Given the description of an element on the screen output the (x, y) to click on. 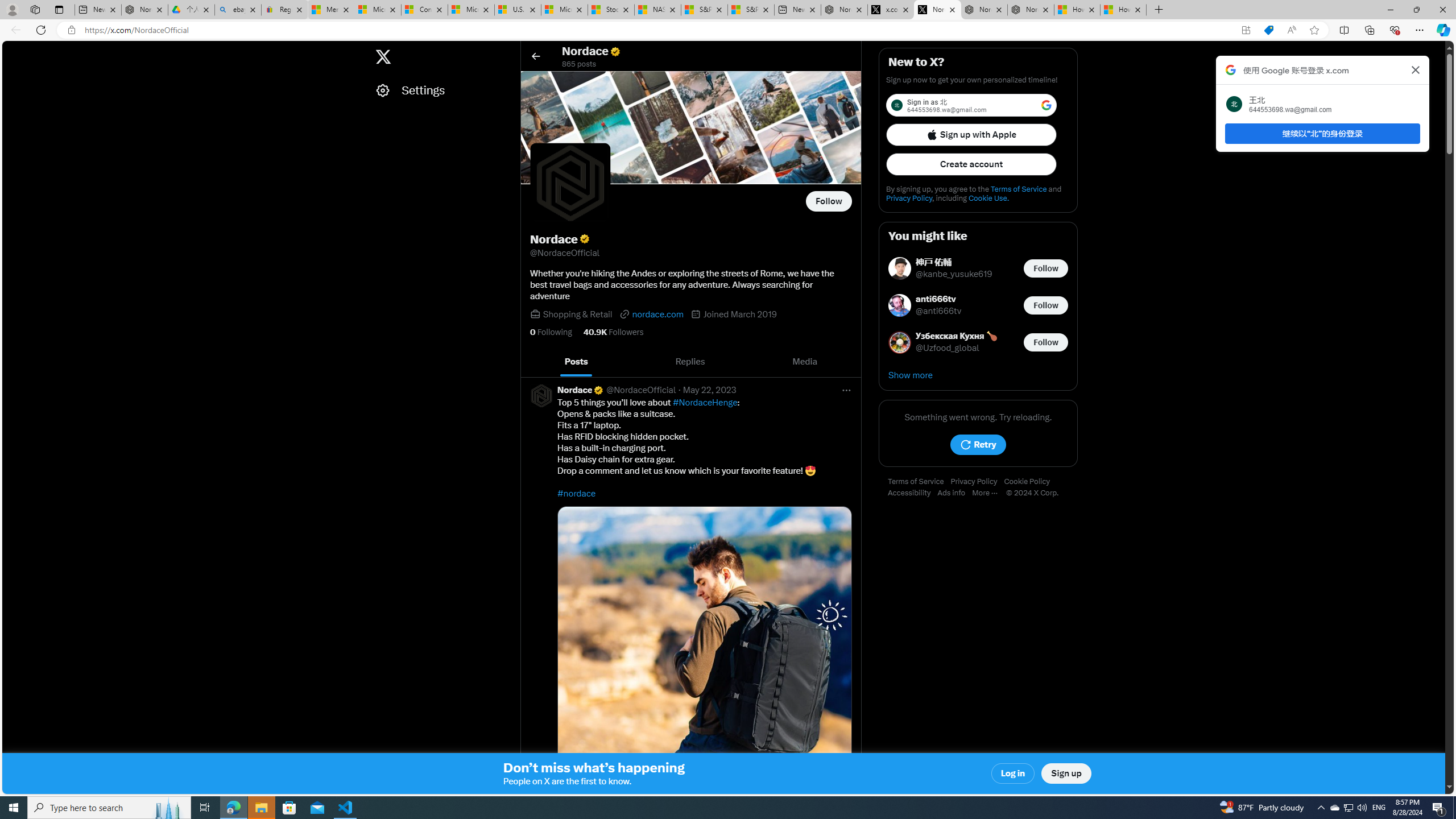
Skip to home timeline (12, 50)
AutomationID: view_24 (308, 9)
Image (704, 653)
Next (848, 361)
Square profile picture (540, 395)
Cookie Policy (1030, 481)
Privacy Policy (977, 481)
Square profile picture and Opens profile photo (570, 182)
